Given the description of an element on the screen output the (x, y) to click on. 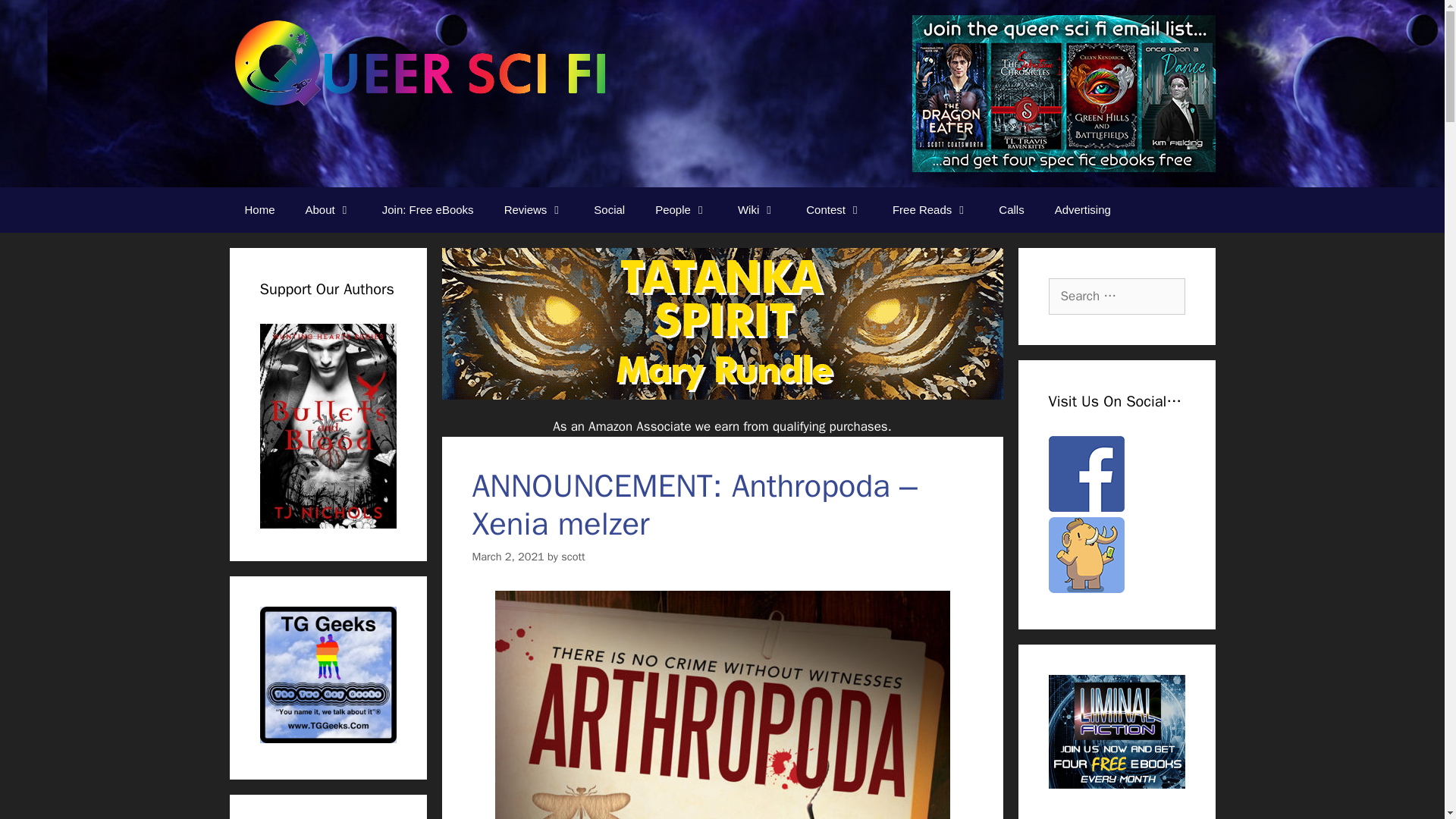
Join: Free eBooks (427, 209)
Social (609, 209)
Search for: (1116, 296)
Reviews (534, 209)
Home (258, 209)
People (681, 209)
About (327, 209)
Wiki (756, 209)
View all posts by scott (572, 555)
